Given the description of an element on the screen output the (x, y) to click on. 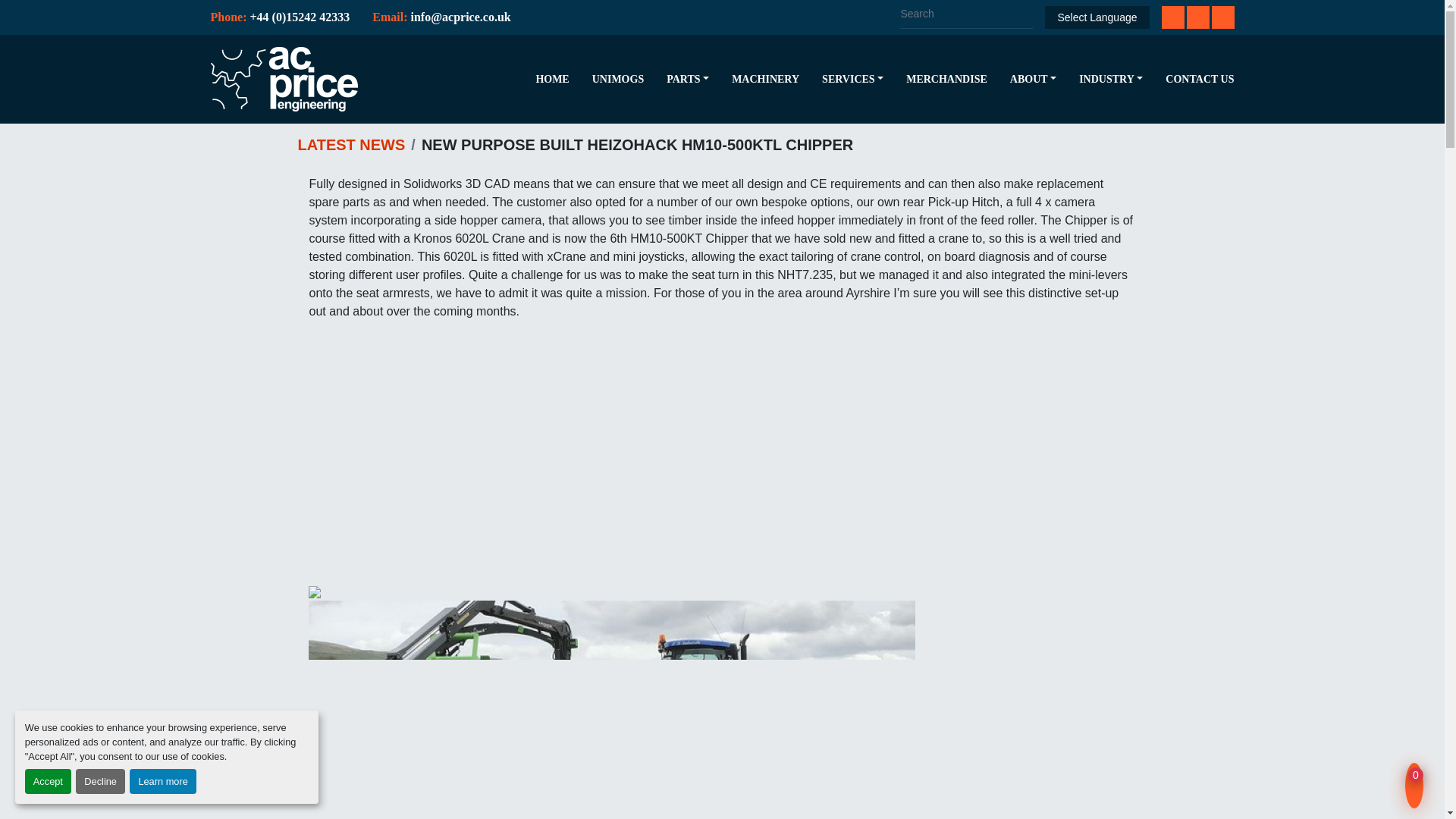
PARTS (683, 78)
MERCHANDISE (946, 78)
UNIMOGS (617, 78)
Learn more (162, 781)
Decline (100, 781)
Select Language (1096, 16)
Accept (47, 781)
MACHINERY (765, 78)
HOME (552, 78)
Accept cookies (47, 781)
